Given the description of an element on the screen output the (x, y) to click on. 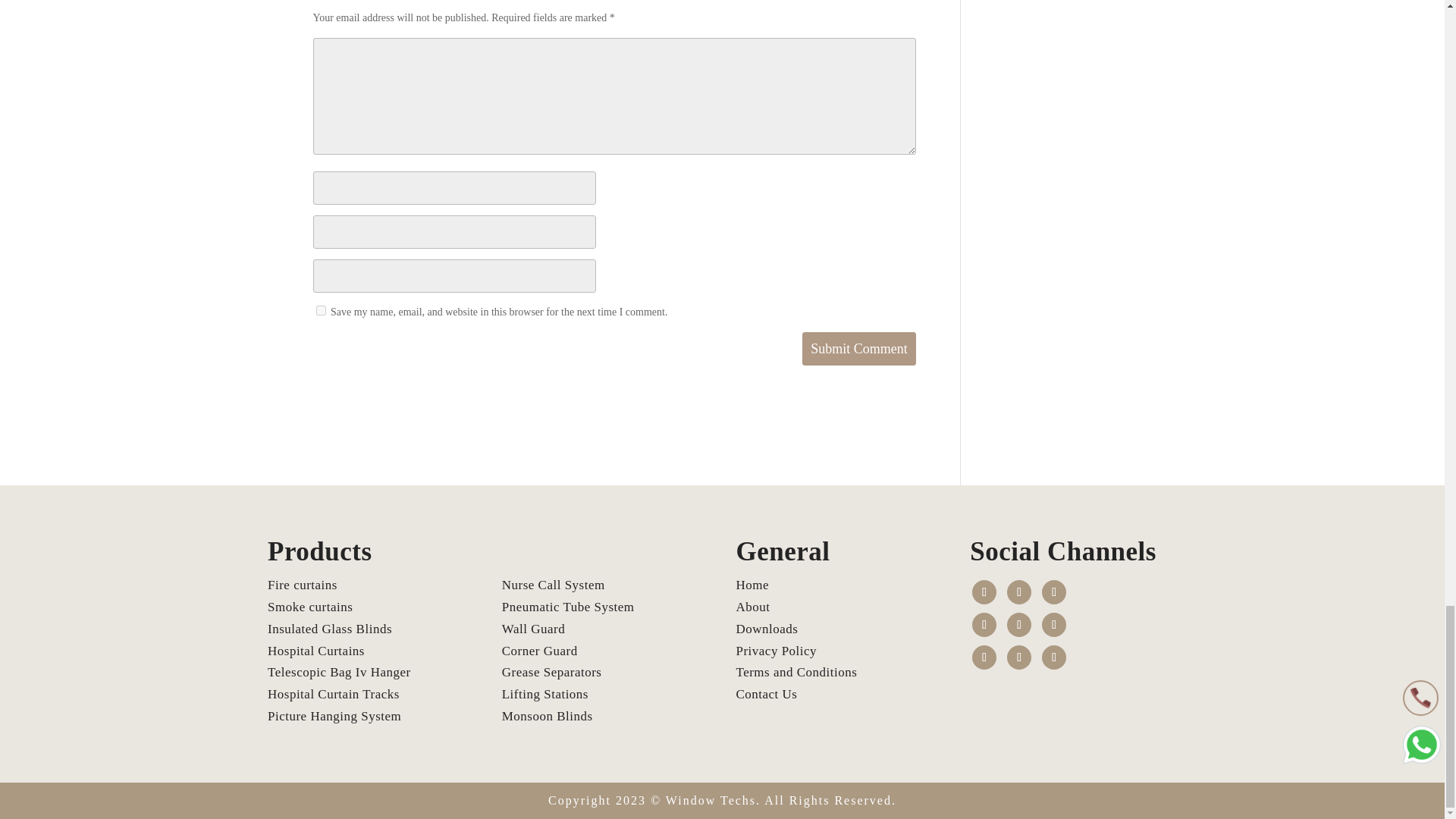
Follow on tumblr (983, 657)
Follow on Twitter (1018, 591)
Follow on Pinterest (1018, 657)
Follow on Facebook (983, 591)
Follow on Flickr (1053, 657)
Follow on Youtube (983, 624)
Submit Comment (858, 349)
Follow on Instagram (1018, 624)
yes (319, 310)
Follow on LinkedIn (1053, 624)
